Given the description of an element on the screen output the (x, y) to click on. 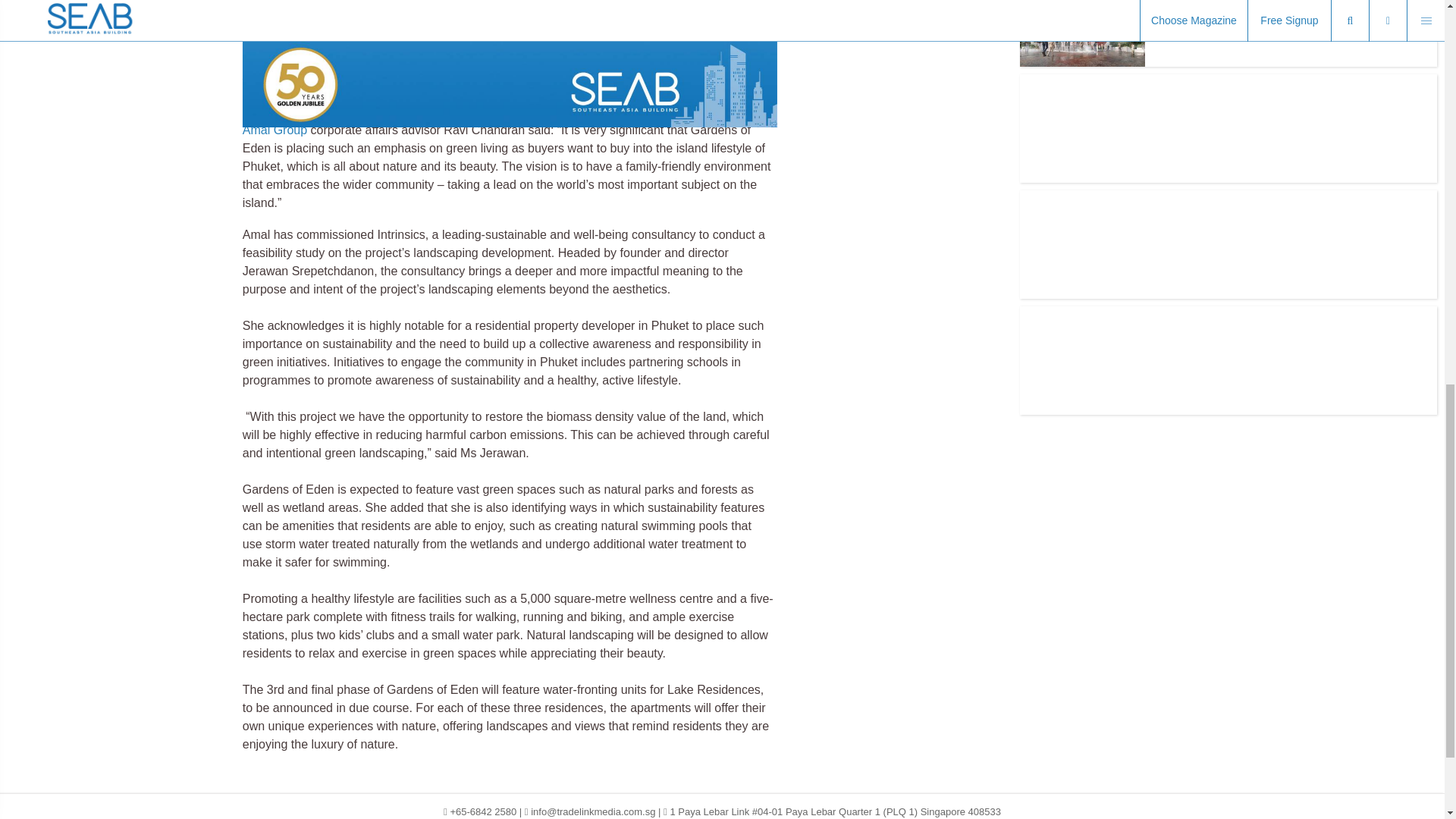
Amal Group (275, 129)
